Given the description of an element on the screen output the (x, y) to click on. 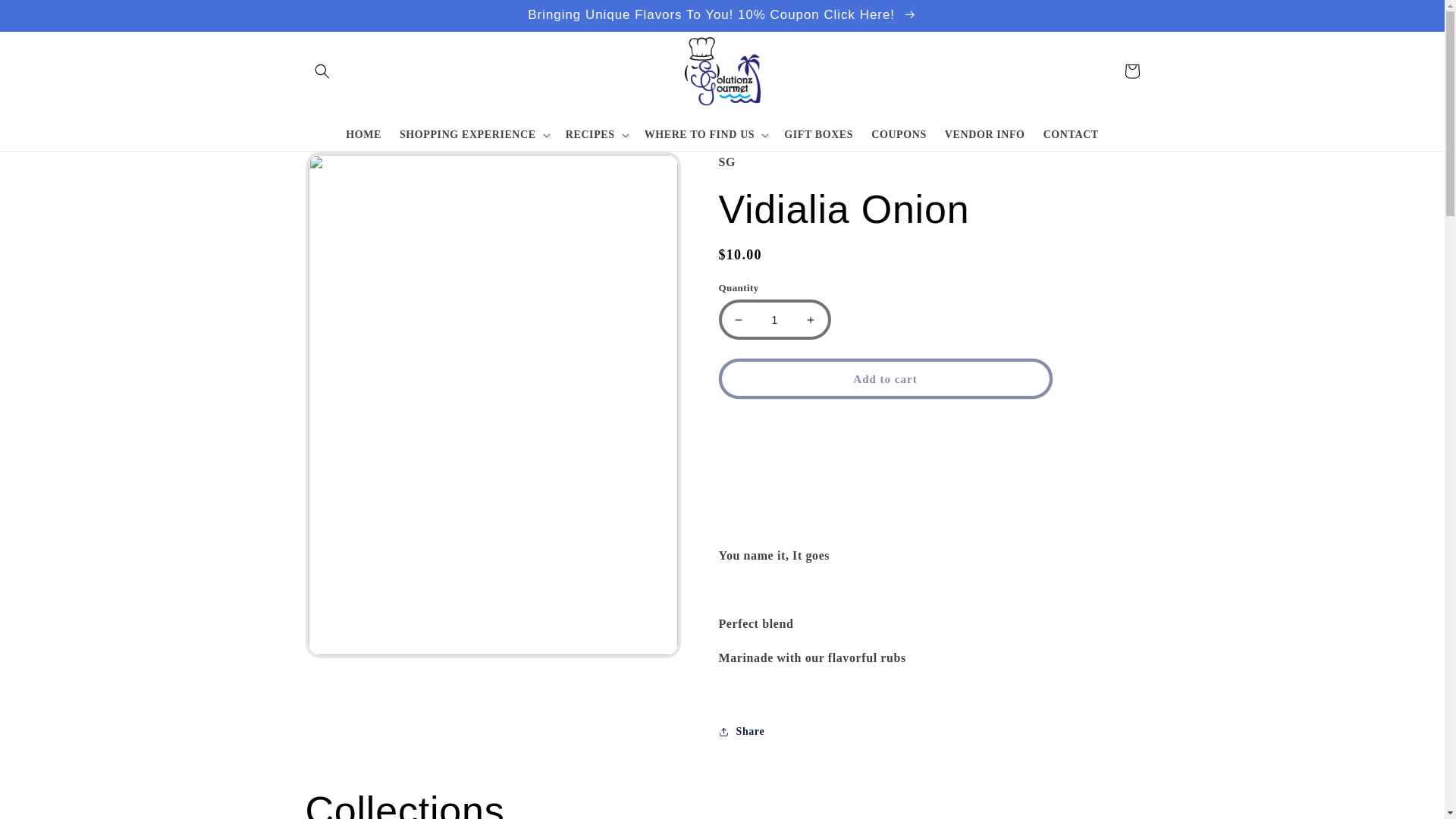
Skip to content (48, 19)
1 (774, 319)
